Given the description of an element on the screen output the (x, y) to click on. 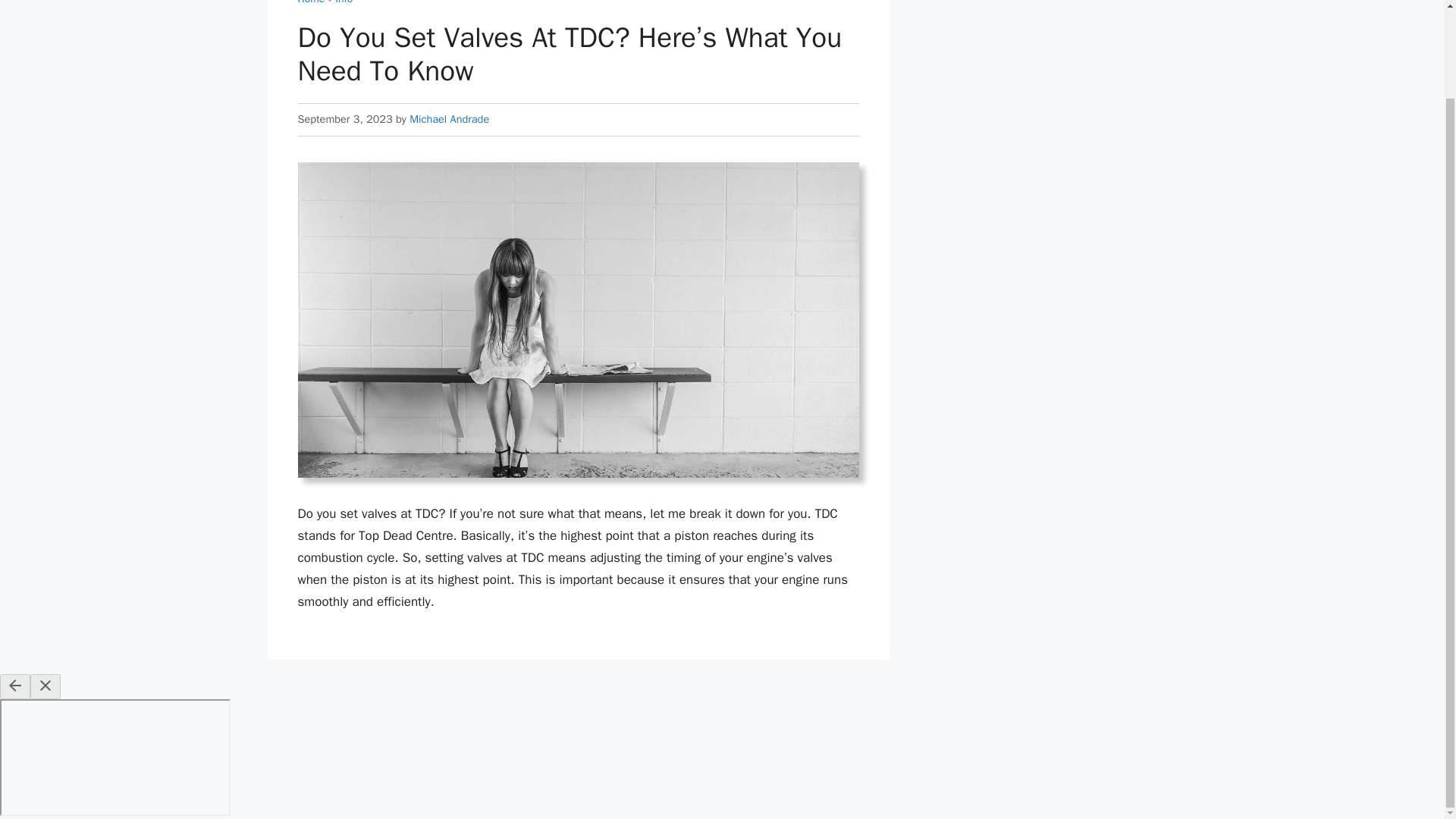
Michael Andrade (449, 119)
Info (343, 2)
Home (310, 2)
View all posts by Michael Andrade (449, 119)
